Given the description of an element on the screen output the (x, y) to click on. 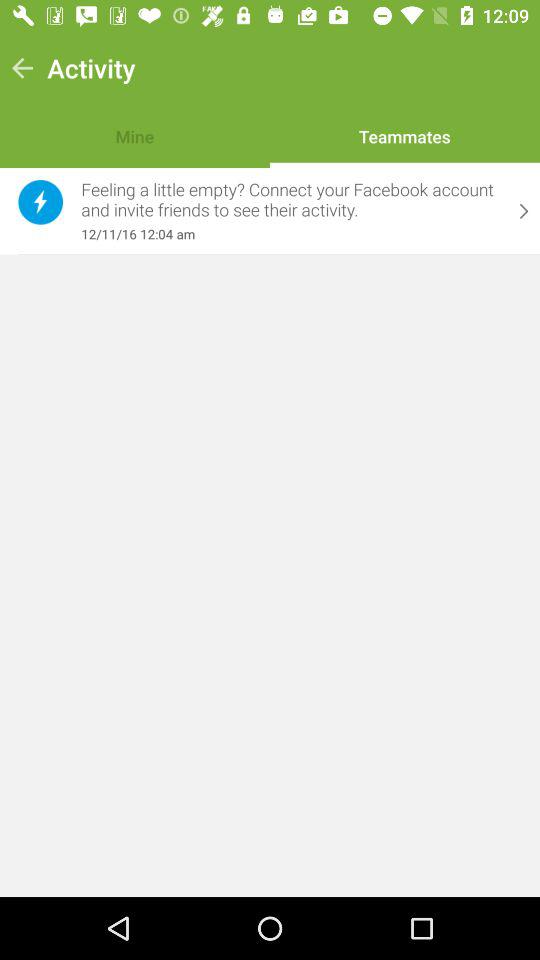
launch item below the feeling a little item (291, 234)
